Given the description of an element on the screen output the (x, y) to click on. 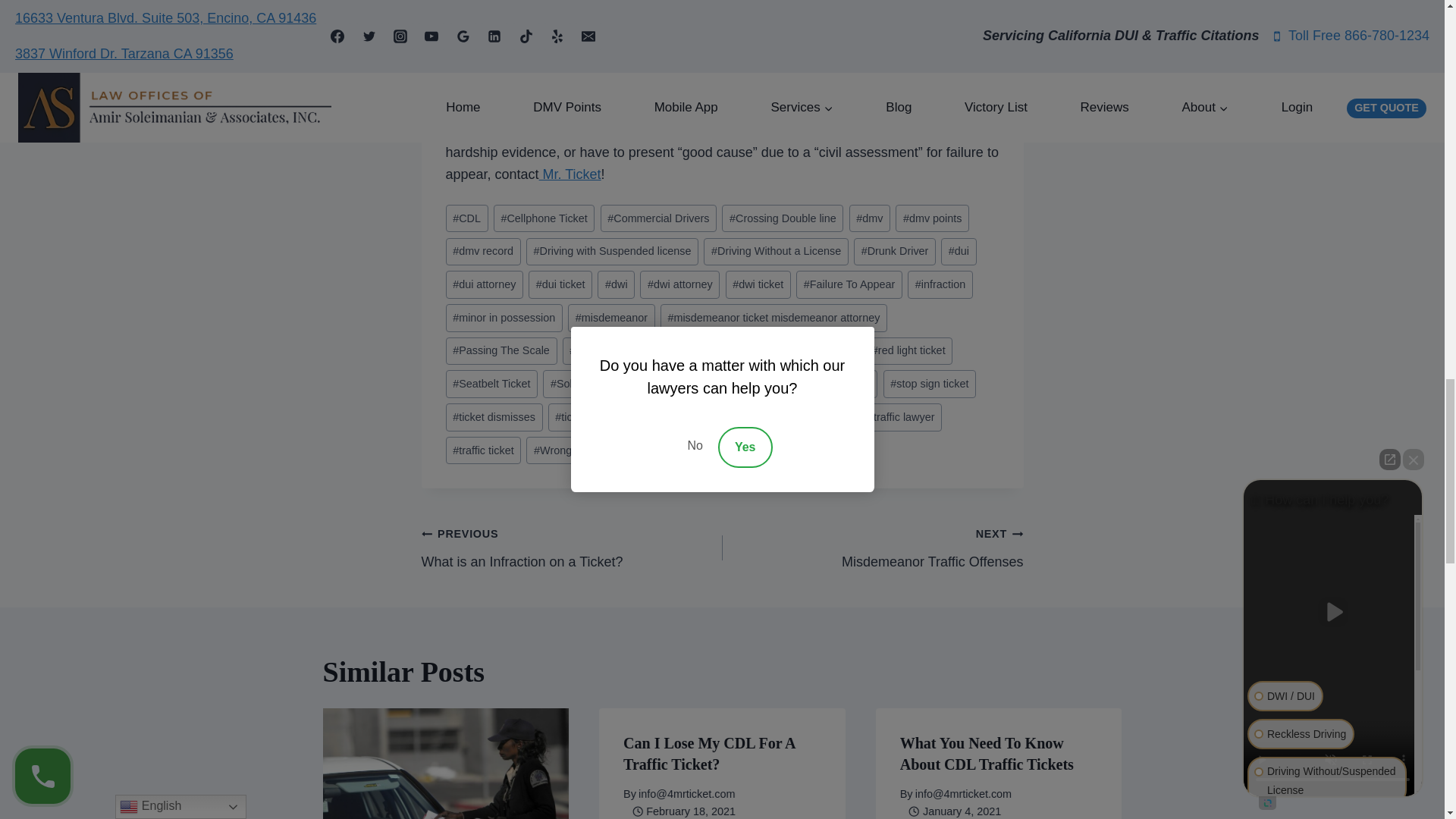
CDL (466, 218)
Cellphone Ticket (544, 218)
dmv points (932, 218)
Crossing Double line (782, 218)
Drunk Driver (894, 252)
dmv (868, 218)
dui (957, 252)
dui ticket (560, 284)
Driving with Suspended license (611, 252)
Commercial Drivers (658, 218)
dwi (615, 284)
Driving Without a License (775, 252)
dui attorney (483, 284)
dmv record (483, 252)
